Given the description of an element on the screen output the (x, y) to click on. 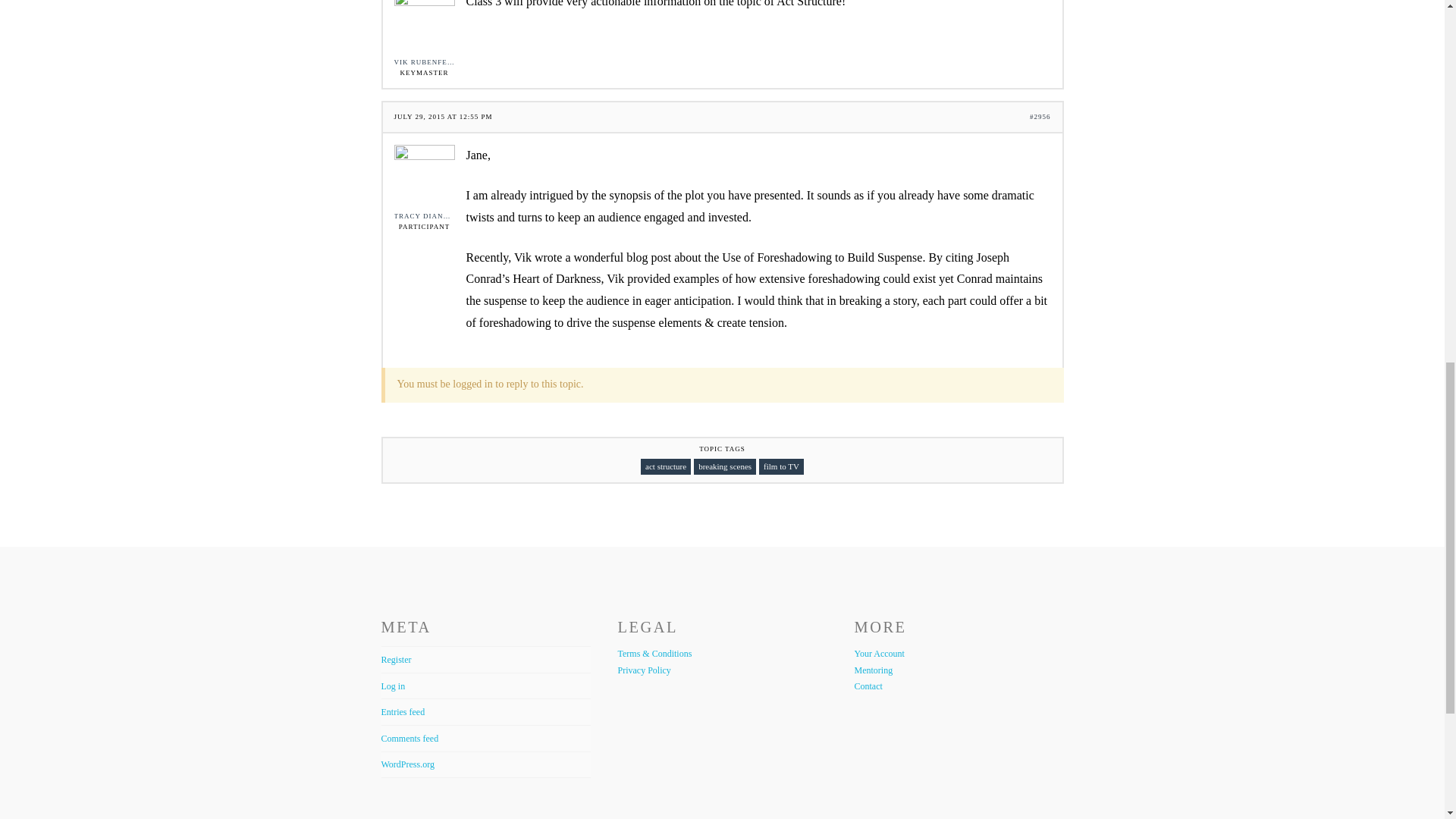
View Tracy Diane Miller's profile (424, 182)
View Vik Rubenfeld's profile (424, 33)
